Given the description of an element on the screen output the (x, y) to click on. 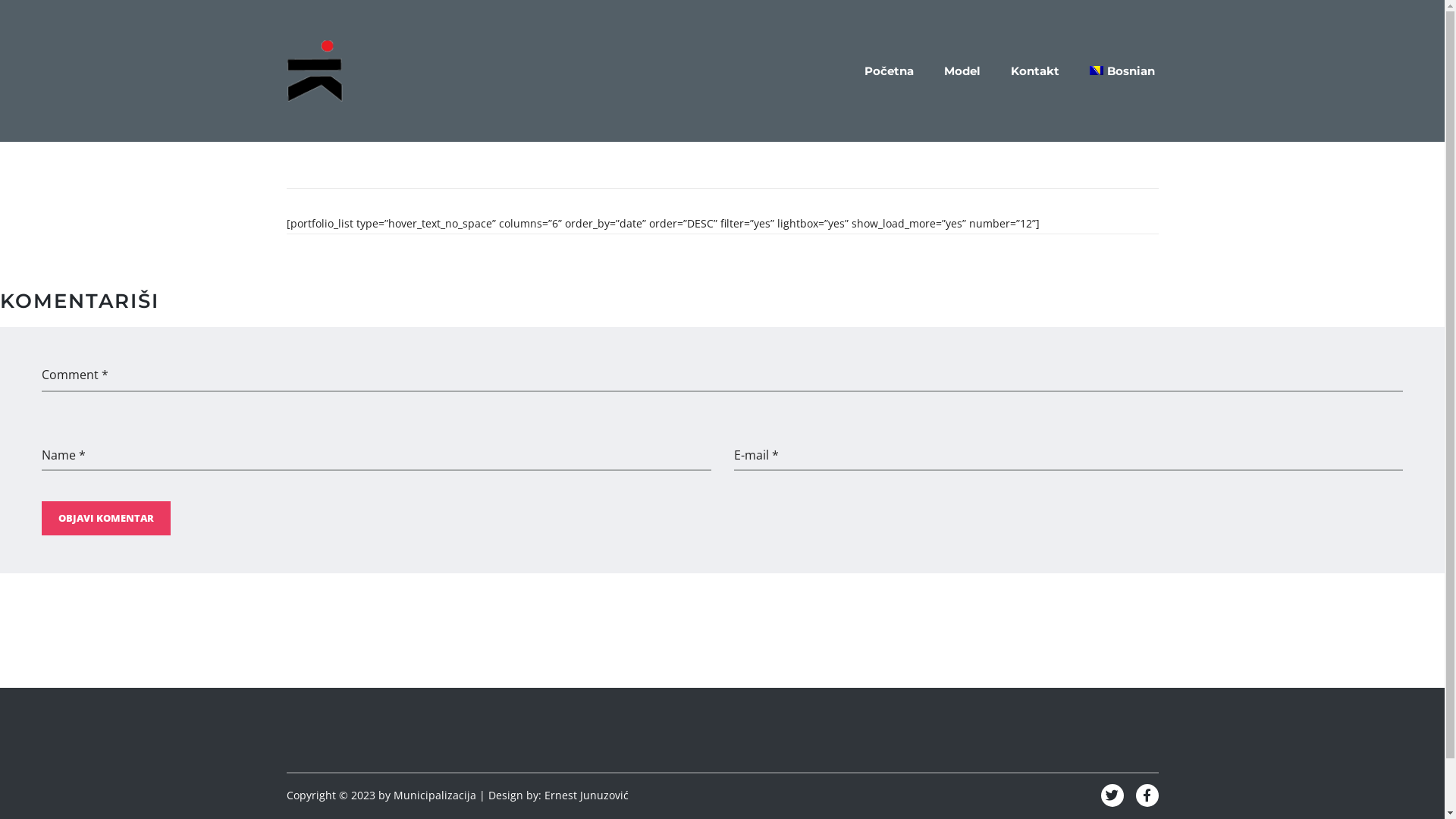
OBJAVI KOMENTAR Element type: text (105, 518)
Bosnian Element type: text (1122, 71)
Municipalizacija Element type: text (433, 794)
Model Element type: text (961, 71)
Kontakt Element type: text (1034, 71)
